Given the description of an element on the screen output the (x, y) to click on. 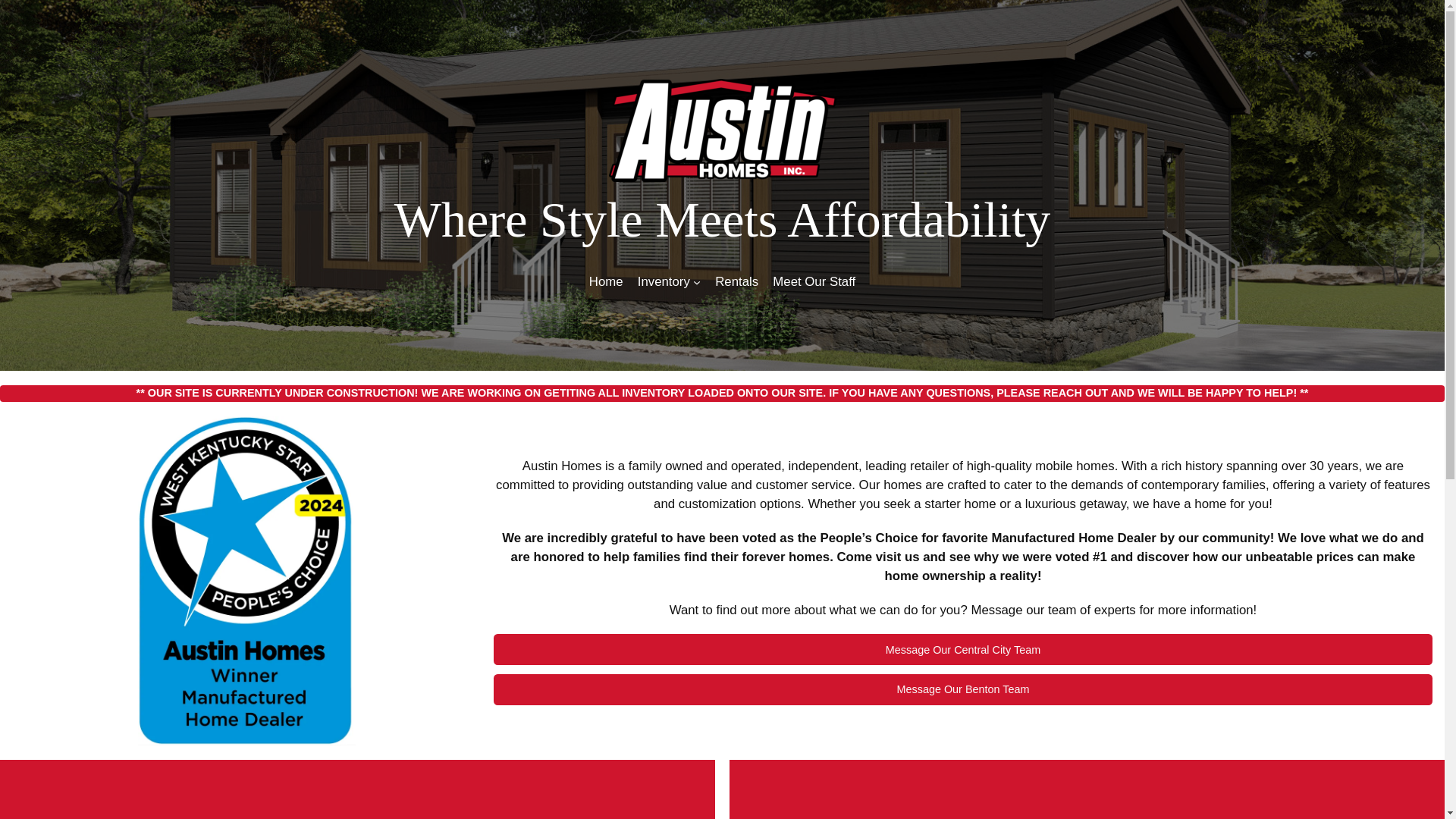
Inventory (663, 281)
Google Map (357, 789)
Message Our Benton Team (962, 689)
Rentals (736, 281)
Meet Our Staff (814, 281)
Home (606, 281)
Message Our Central City Team (962, 649)
